Given the description of an element on the screen output the (x, y) to click on. 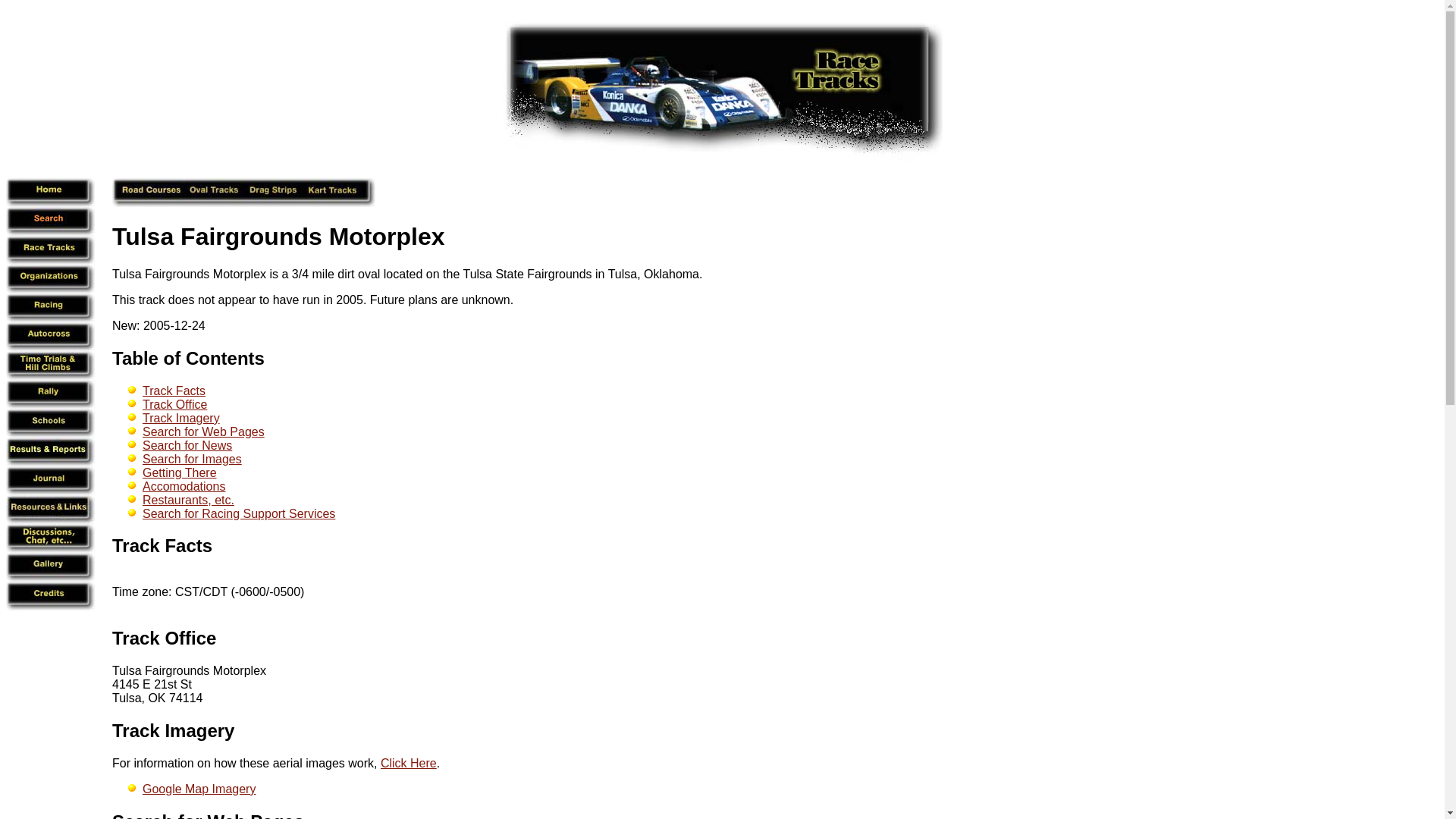
Accomodations (183, 486)
Click Here (408, 762)
Track Facts (162, 545)
Track Facts (173, 390)
Track Imagery (173, 730)
Getting There (179, 472)
Search for Images (191, 459)
Search for News (186, 445)
Restaurants, etc. (188, 499)
Track Imagery (180, 418)
Search for Racing Support Services (238, 513)
Search for Web Pages (203, 431)
Search for Web Pages (208, 815)
Track Office (174, 404)
Track Office (163, 638)
